Given the description of an element on the screen output the (x, y) to click on. 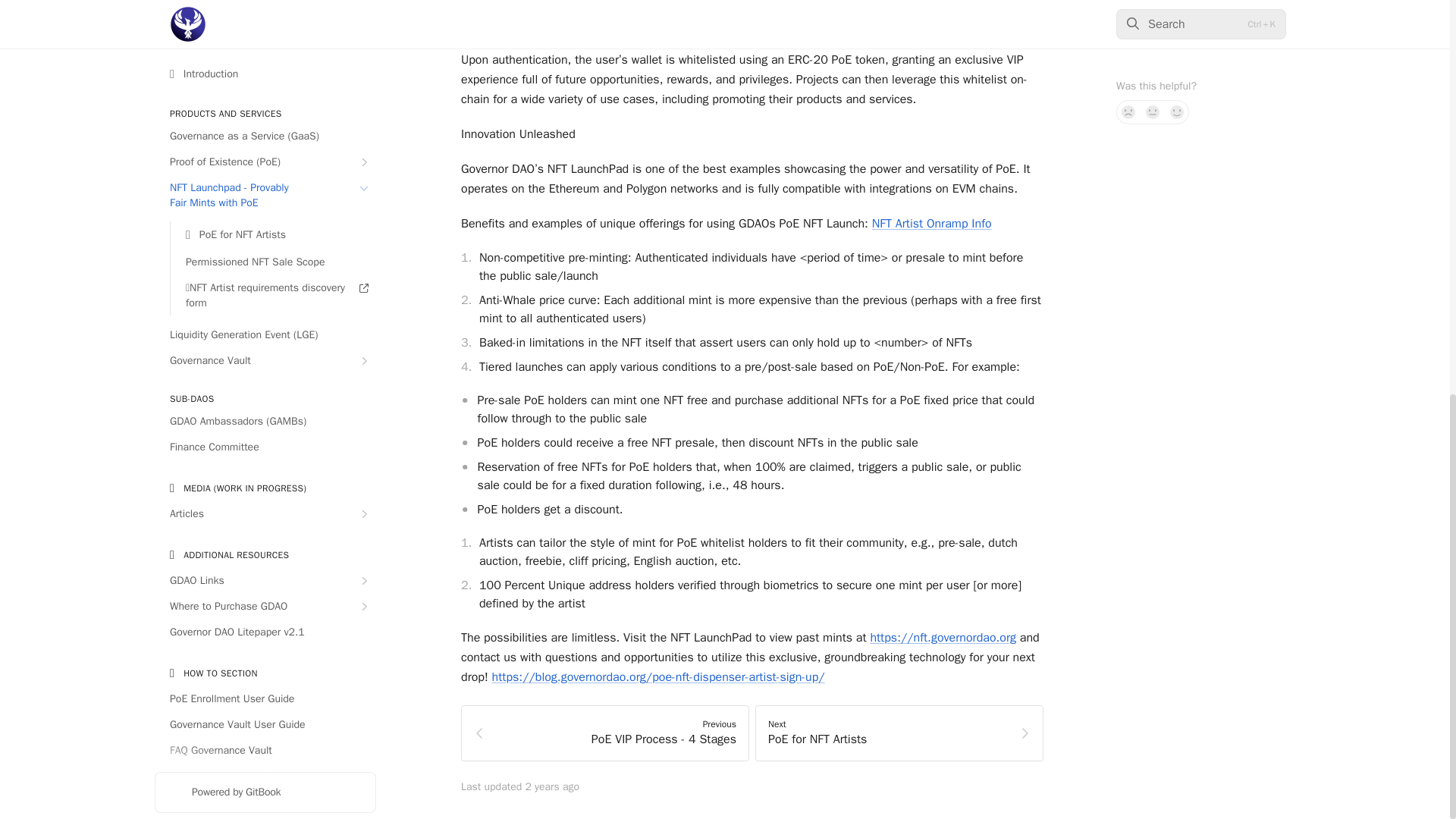
Was this helpful? (1200, 16)
